Given the description of an element on the screen output the (x, y) to click on. 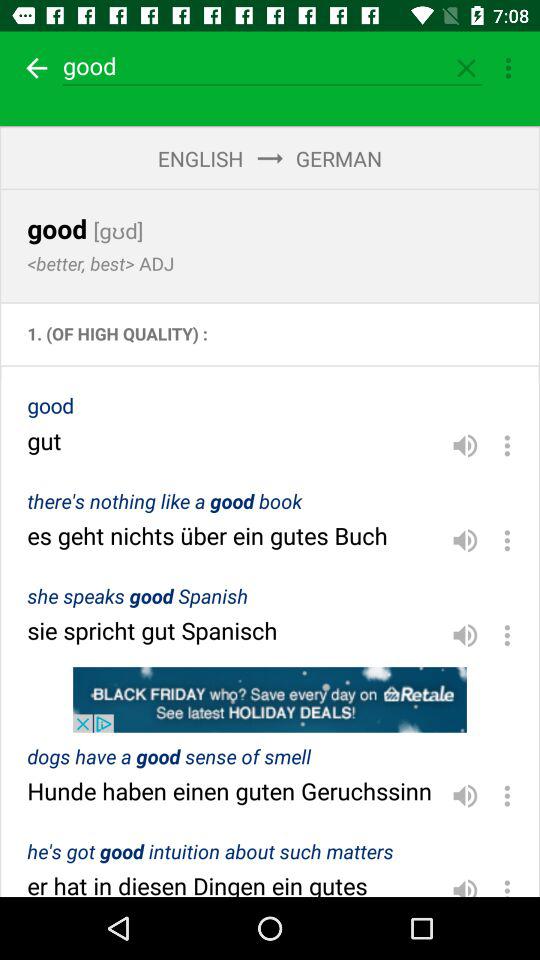
settings tool option (508, 68)
